Given the description of an element on the screen output the (x, y) to click on. 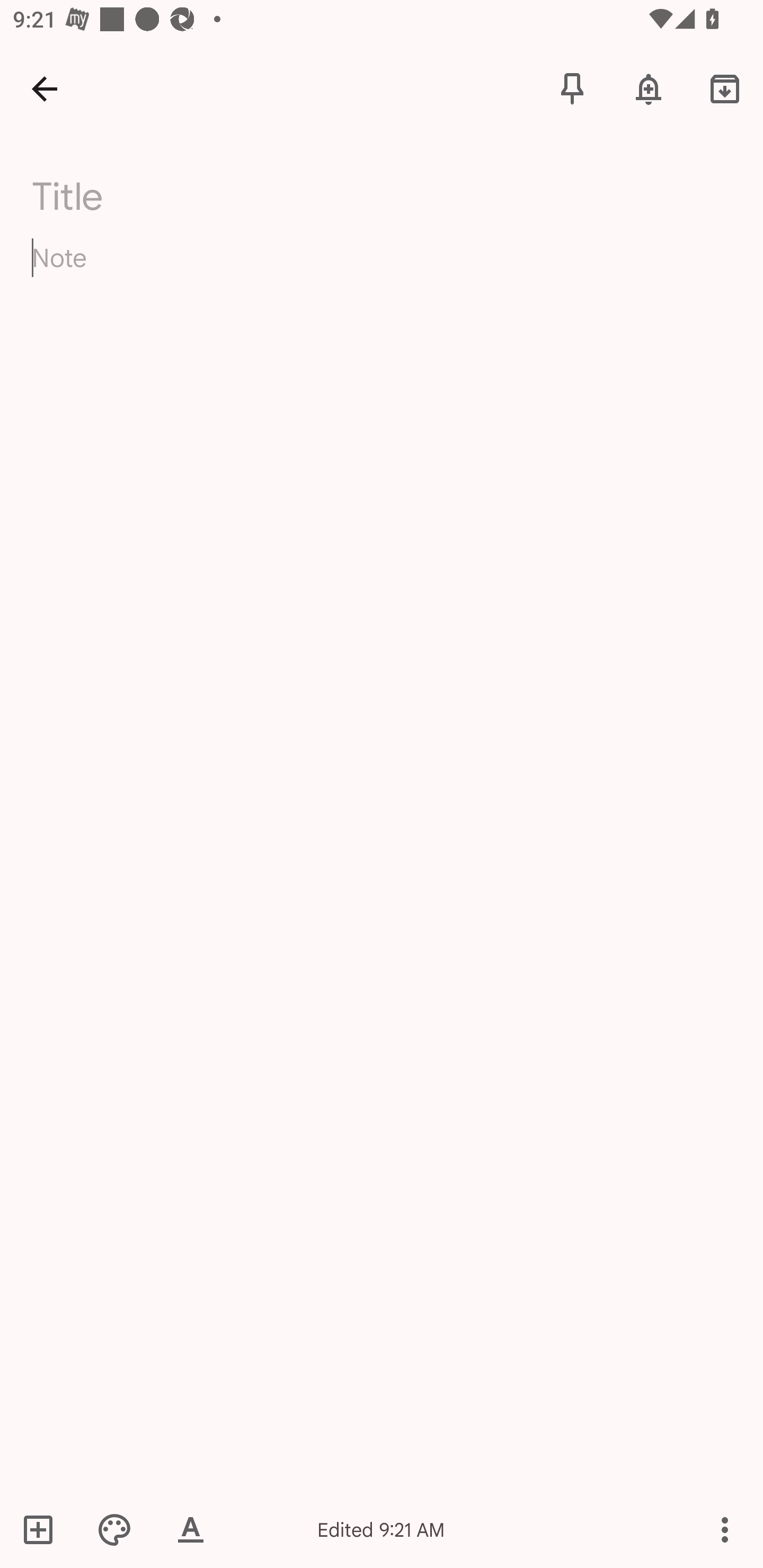
Navigate up (44, 88)
Pin (572, 88)
Reminder (648, 88)
Archive (724, 88)
.  (193, 192)
Note (381, 273)
New list (44, 1529)
Theme (114, 1529)
Show formatting controls (190, 1529)
Action (724, 1529)
